Given the description of an element on the screen output the (x, y) to click on. 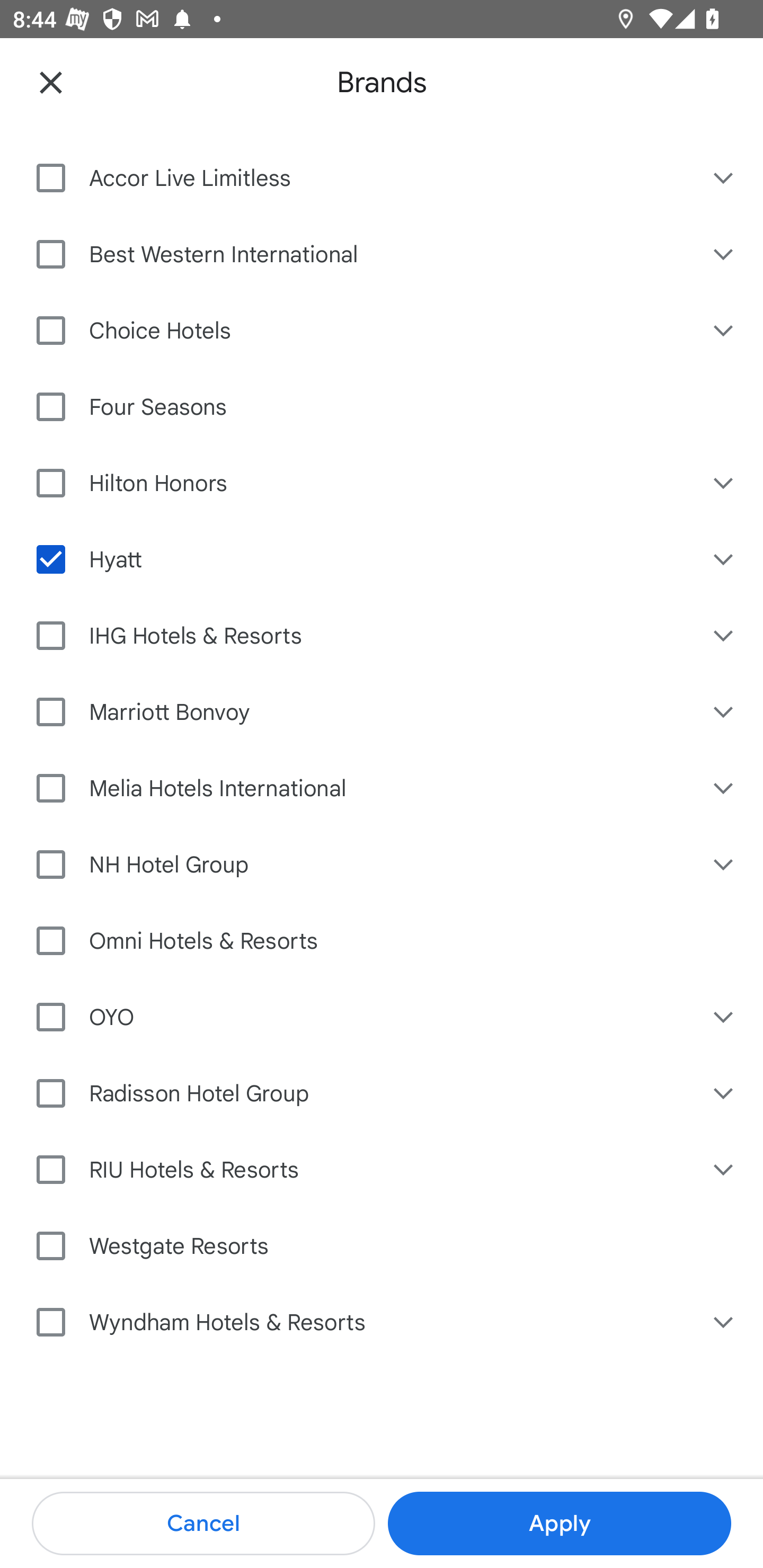
Close menu (50, 81)
Accor Live Limitless, Activate to expand (724, 177)
Best Western International, Activate to expand (724, 253)
Choice Hotels, Activate to expand (724, 329)
Hilton Honors, Activate to expand (724, 482)
Checked, Hyatt. Activate to uncheck Hyatt (355, 558)
Hyatt, Activate to expand (724, 558)
IHG Hotels & Resorts, Activate to expand (724, 635)
Marriott Bonvoy, Activate to expand (724, 711)
Melia Hotels International, Activate to expand (724, 787)
NH Hotel Group, Activate to expand (724, 864)
Not checked, OYO. Activate to check OYO (355, 1016)
OYO, Activate to expand (724, 1016)
Radisson Hotel Group, Activate to expand (724, 1093)
RIU Hotels & Resorts, Activate to expand (724, 1169)
Wyndham Hotels & Resorts, Activate to expand (724, 1322)
Cancel Cancel Cancel (203, 1522)
Apply Apply Apply (558, 1522)
